Given the description of an element on the screen output the (x, y) to click on. 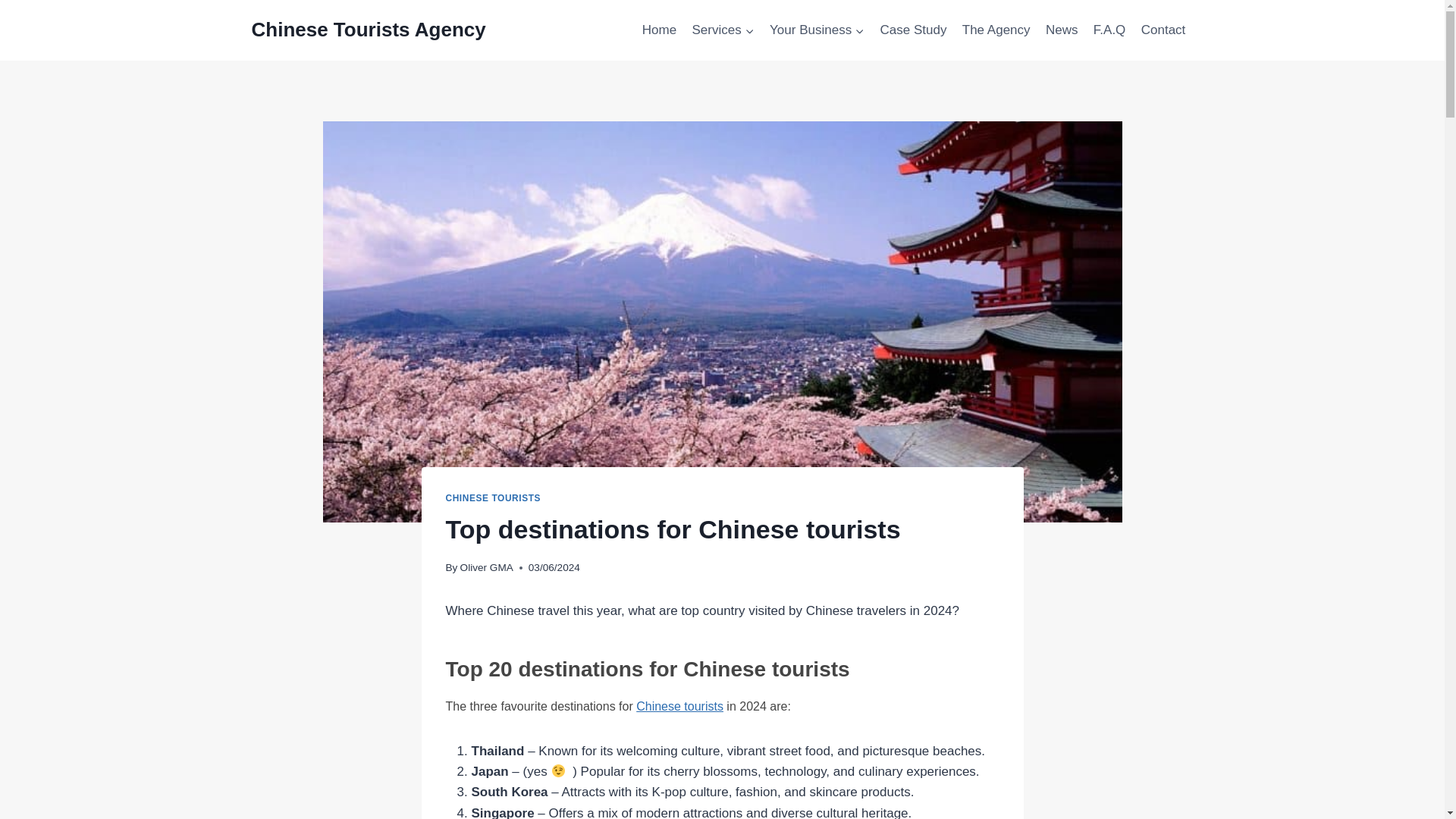
Services (722, 30)
Chinese Tourists Agency (368, 29)
Oliver GMA (486, 567)
Chinese tourist (1062, 30)
Home (659, 30)
Expertise in Tourism In China (996, 30)
The Agency (996, 30)
CHINESE TOURISTS (493, 498)
Contact (1163, 30)
Tourism Agency Marketing (659, 30)
Contact (1163, 30)
Services (722, 30)
Chinese tourists (679, 706)
Your Business (816, 30)
Case Study (912, 30)
